Given the description of an element on the screen output the (x, y) to click on. 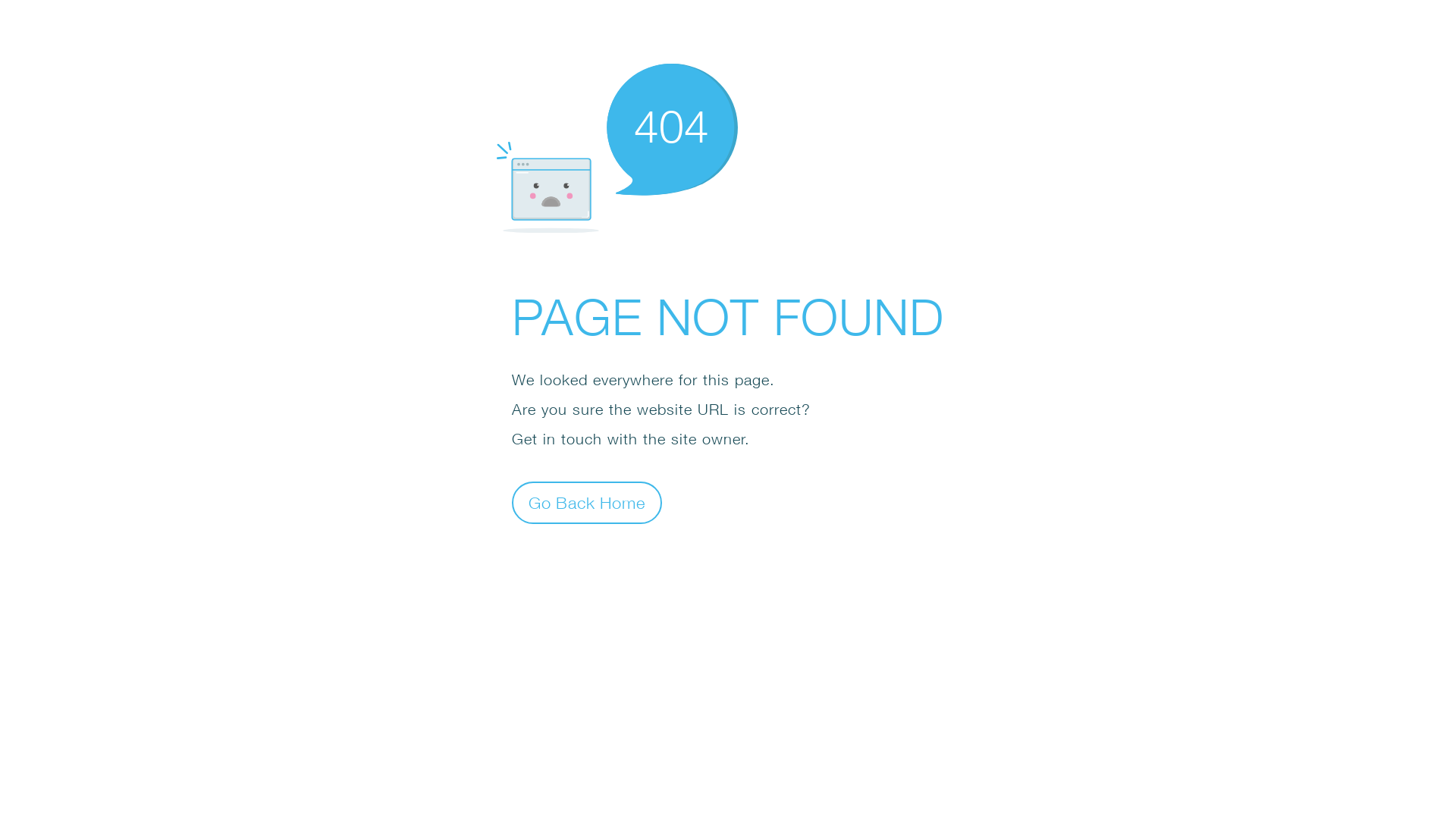
Go Back Home Element type: text (586, 502)
